Given the description of an element on the screen output the (x, y) to click on. 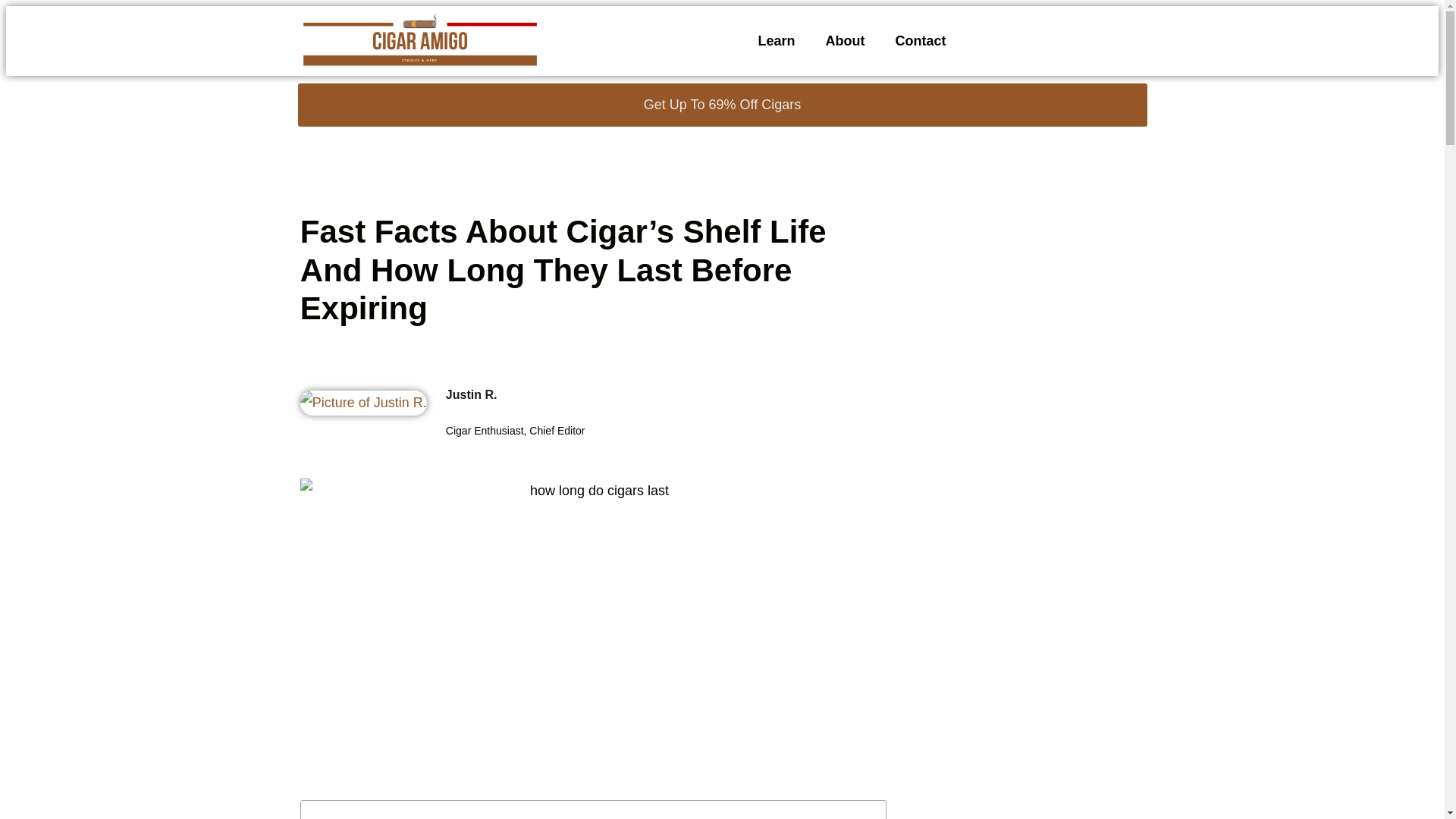
Learn (775, 40)
About (845, 40)
Contact (919, 40)
Justin R. (665, 395)
